Given the description of an element on the screen output the (x, y) to click on. 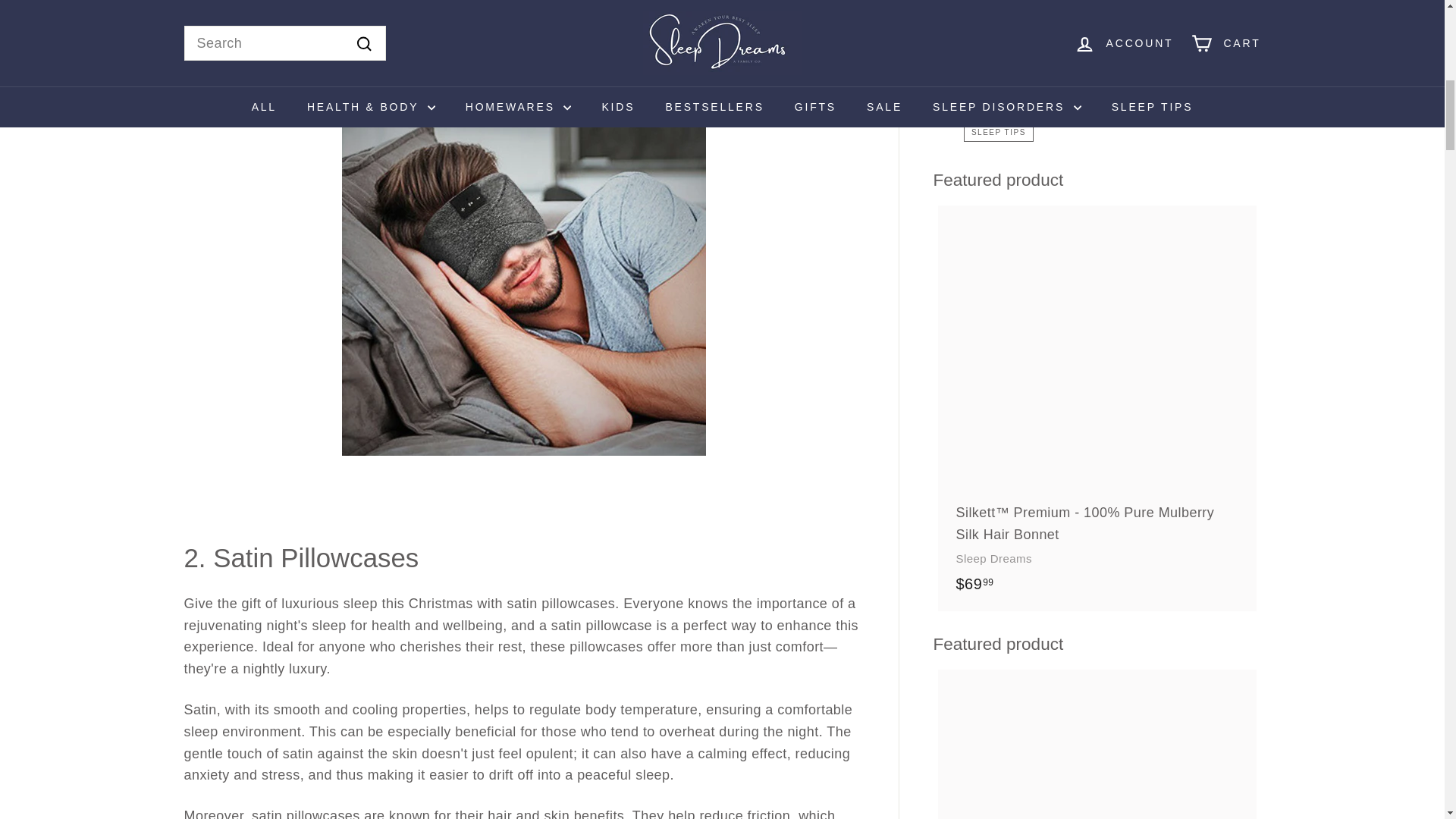
satin pillowcases (305, 813)
